Given the description of an element on the screen output the (x, y) to click on. 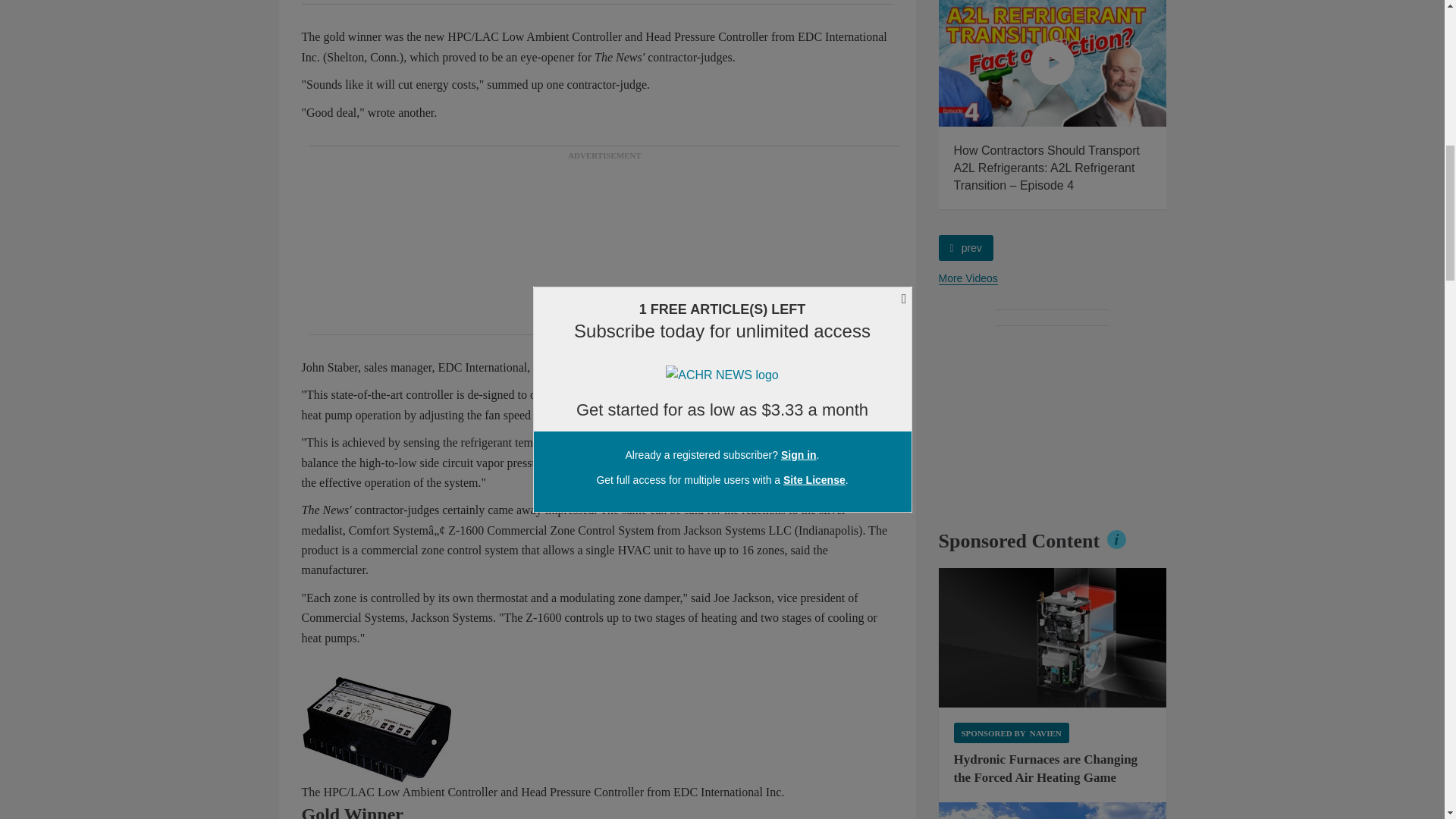
Texas Frio Cold Storage (1052, 810)
Hydronic Forced Air Furnace Diagram (1052, 637)
Sponsored by Navien (1010, 732)
